Given the description of an element on the screen output the (x, y) to click on. 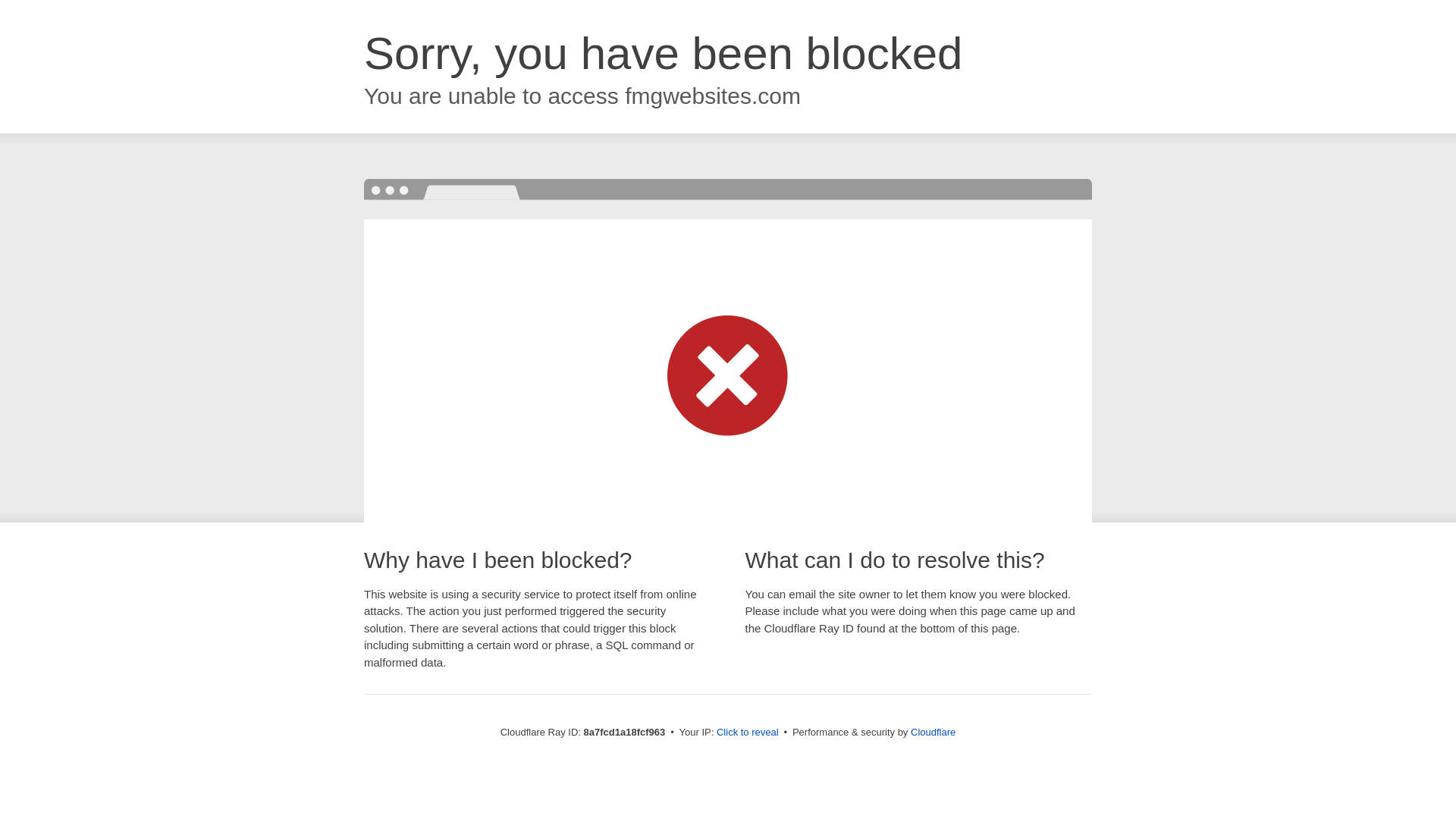
Cloudflare (933, 731)
Click to reveal (747, 732)
